Given the description of an element on the screen output the (x, y) to click on. 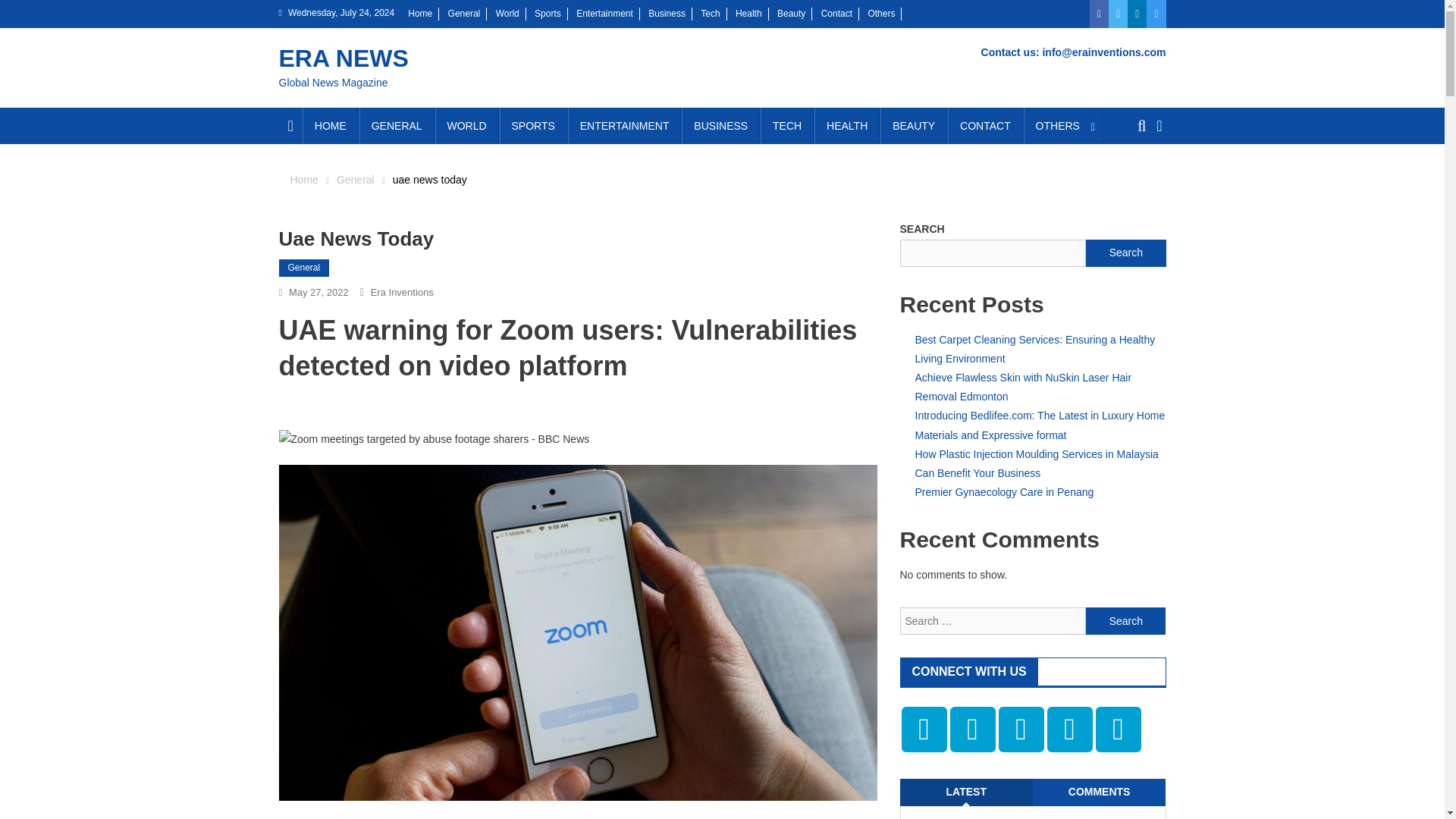
HOME (330, 125)
Business (666, 13)
Home (419, 13)
CONTACT (985, 125)
ERA NEWS (344, 58)
Home (303, 179)
Beauty (791, 13)
General (464, 13)
Sports (547, 13)
SPORTS (533, 125)
Others (881, 13)
Search (1126, 620)
Social Media Icons (1020, 729)
Tech (709, 13)
HEALTH (846, 125)
